Given the description of an element on the screen output the (x, y) to click on. 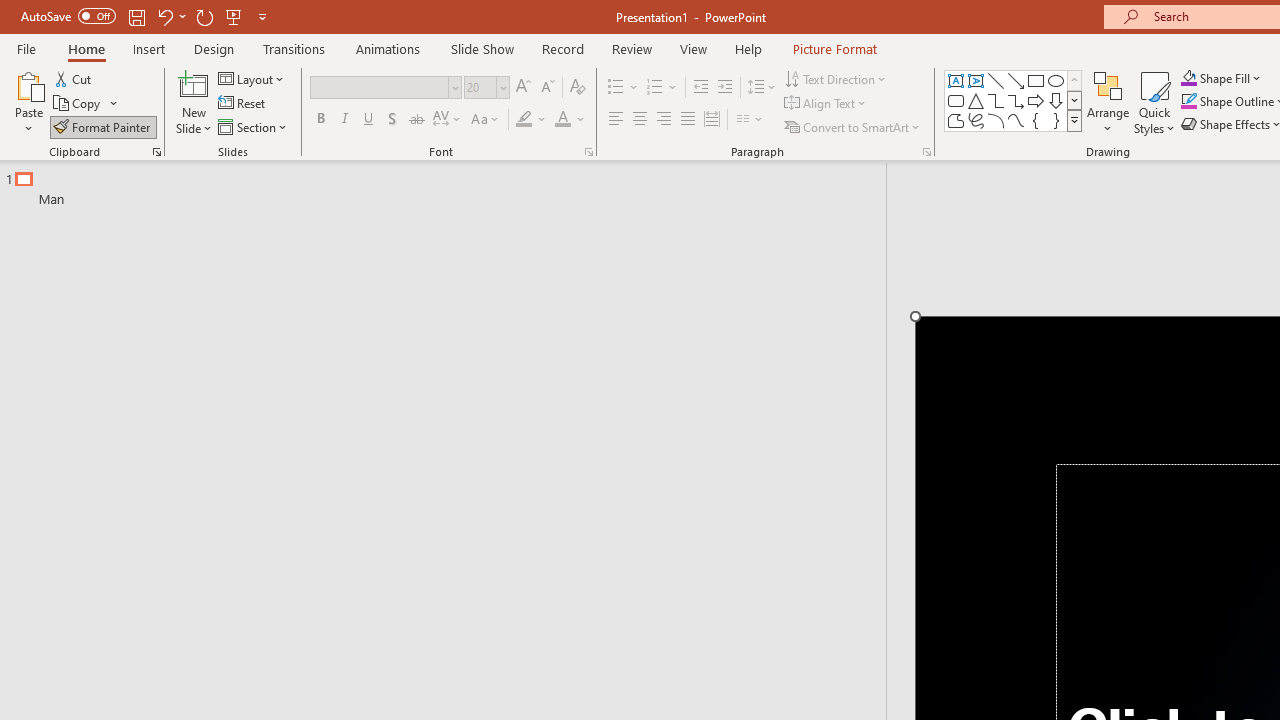
Freeform: Shape (955, 120)
Copy (78, 103)
Strikethrough (416, 119)
Left Brace (1035, 120)
Copy (85, 103)
Line Spacing (762, 87)
Line Arrow (1016, 80)
Convert to SmartArt (853, 126)
Justify (687, 119)
